Given the description of an element on the screen output the (x, y) to click on. 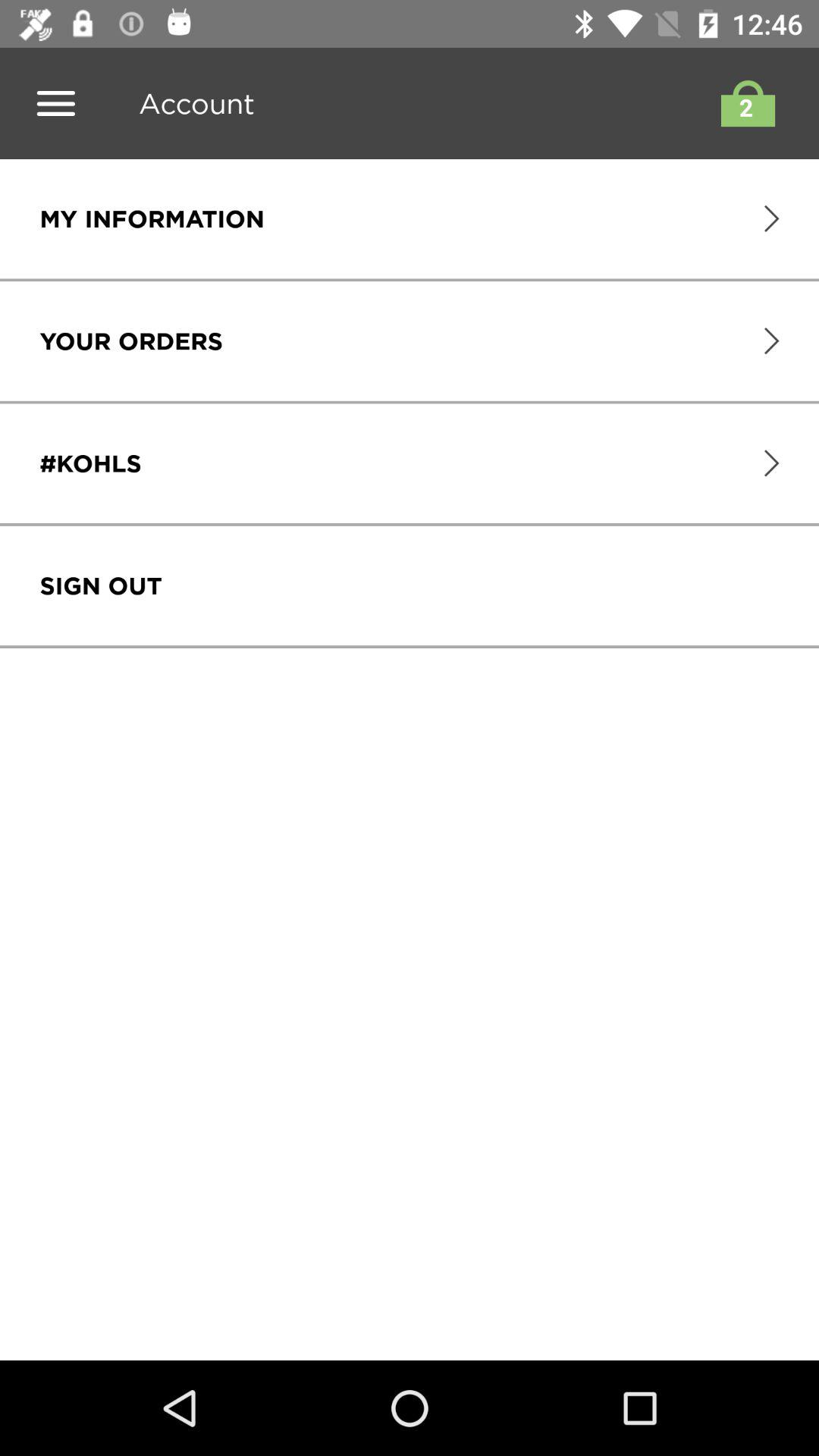
select #kohls item (90, 463)
